Given the description of an element on the screen output the (x, y) to click on. 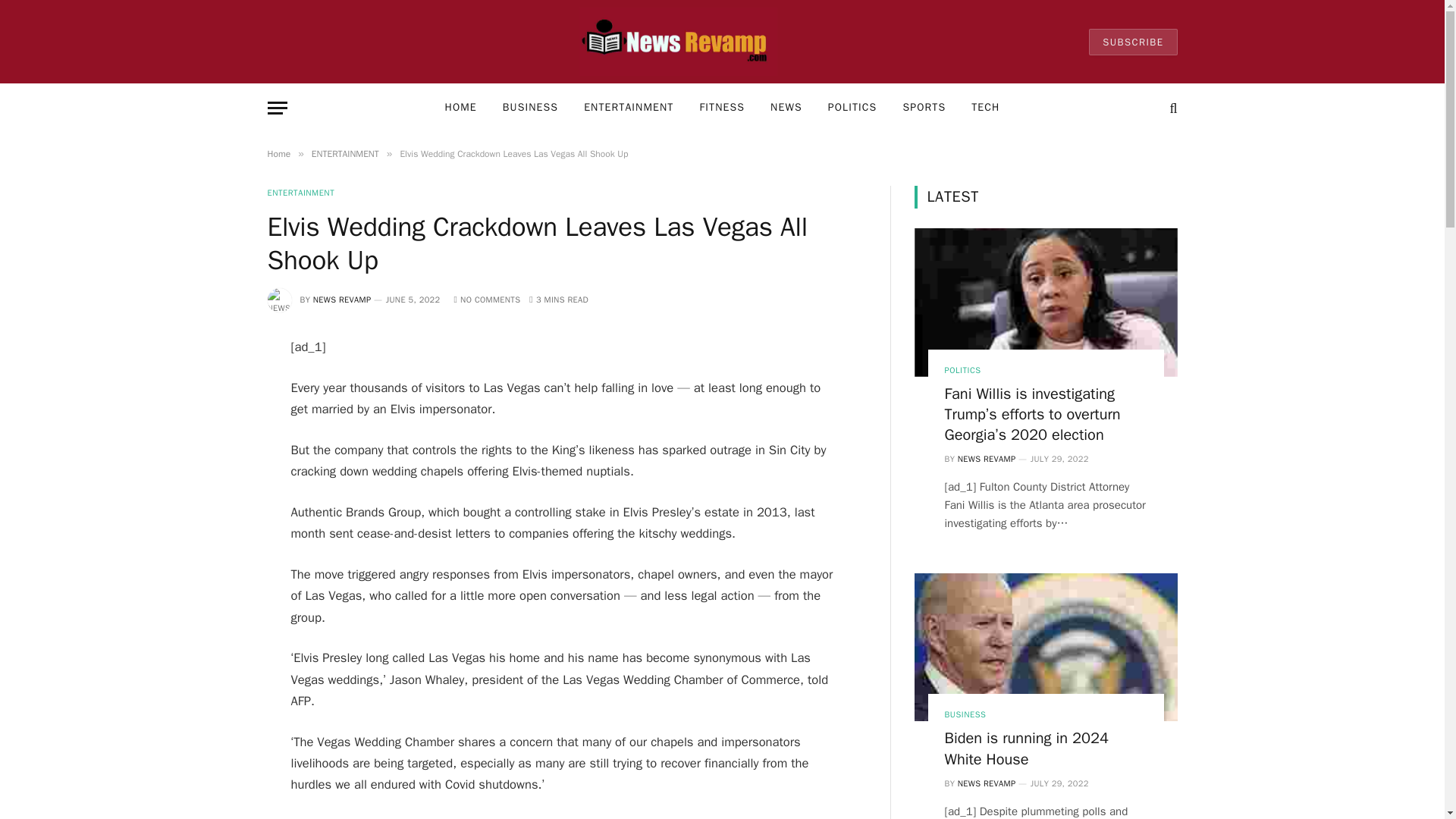
SPORTS (923, 107)
FITNESS (721, 107)
Posts by News Revamp (987, 458)
TECH (984, 107)
NEWS (786, 107)
NEWS REVAMP (342, 299)
News Revamp (677, 41)
ENTERTAINMENT (300, 192)
ENTERTAINMENT (627, 107)
BUSINESS (529, 107)
NO COMMENTS (485, 299)
POLITICS (852, 107)
ENTERTAINMENT (344, 153)
HOME (460, 107)
SUBSCRIBE (1132, 41)
